Given the description of an element on the screen output the (x, y) to click on. 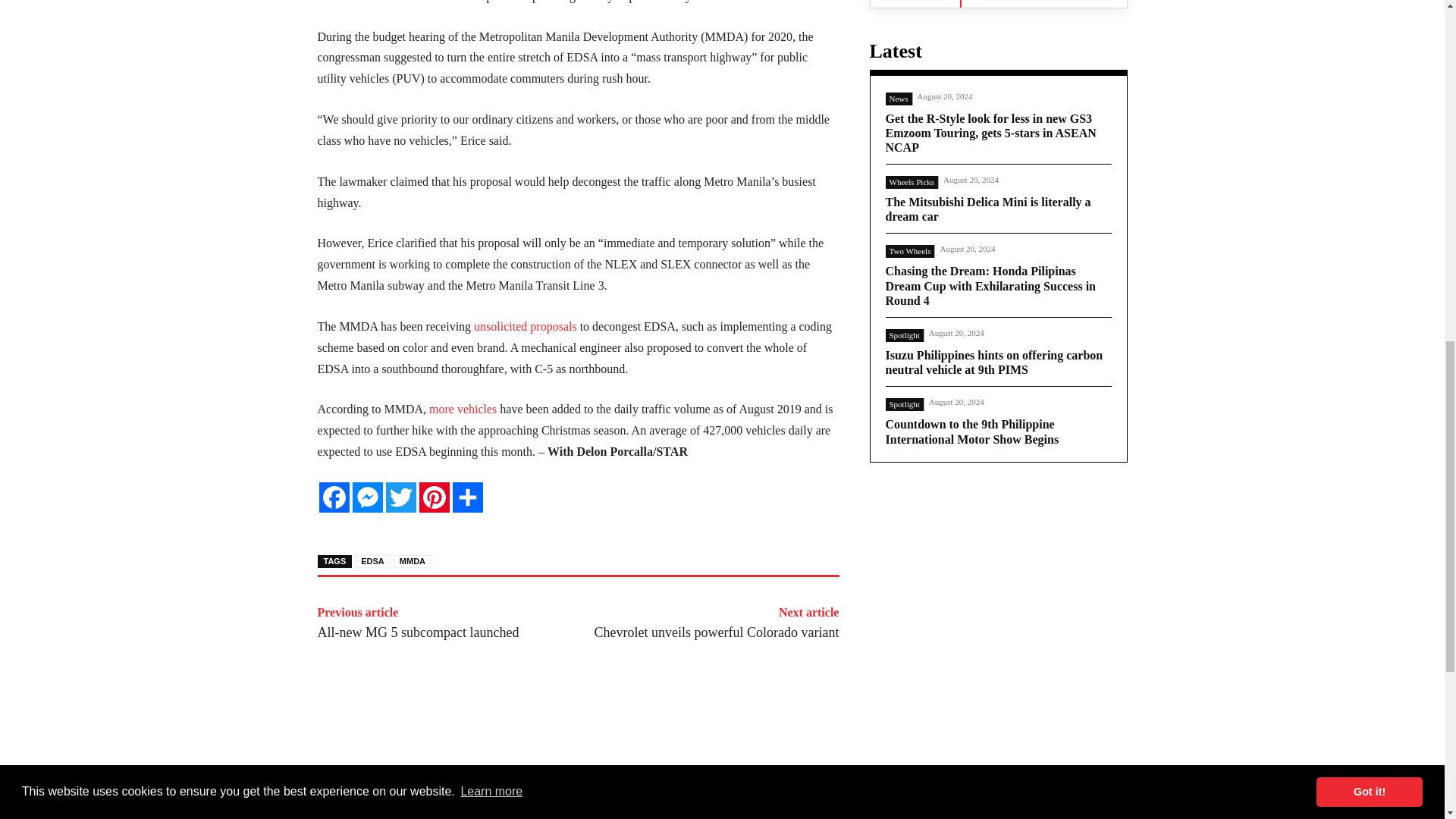
MMDA (411, 561)
Vuukle Emotes Widget (544, 726)
more vehicles (462, 408)
Chevrolet unveils powerful Colorado variant (717, 631)
EDSA (372, 561)
All-new MG 5 subcompact launched (417, 631)
Vuukle Comments Widget (577, 806)
unsolicited proposals (525, 326)
